Given the description of an element on the screen output the (x, y) to click on. 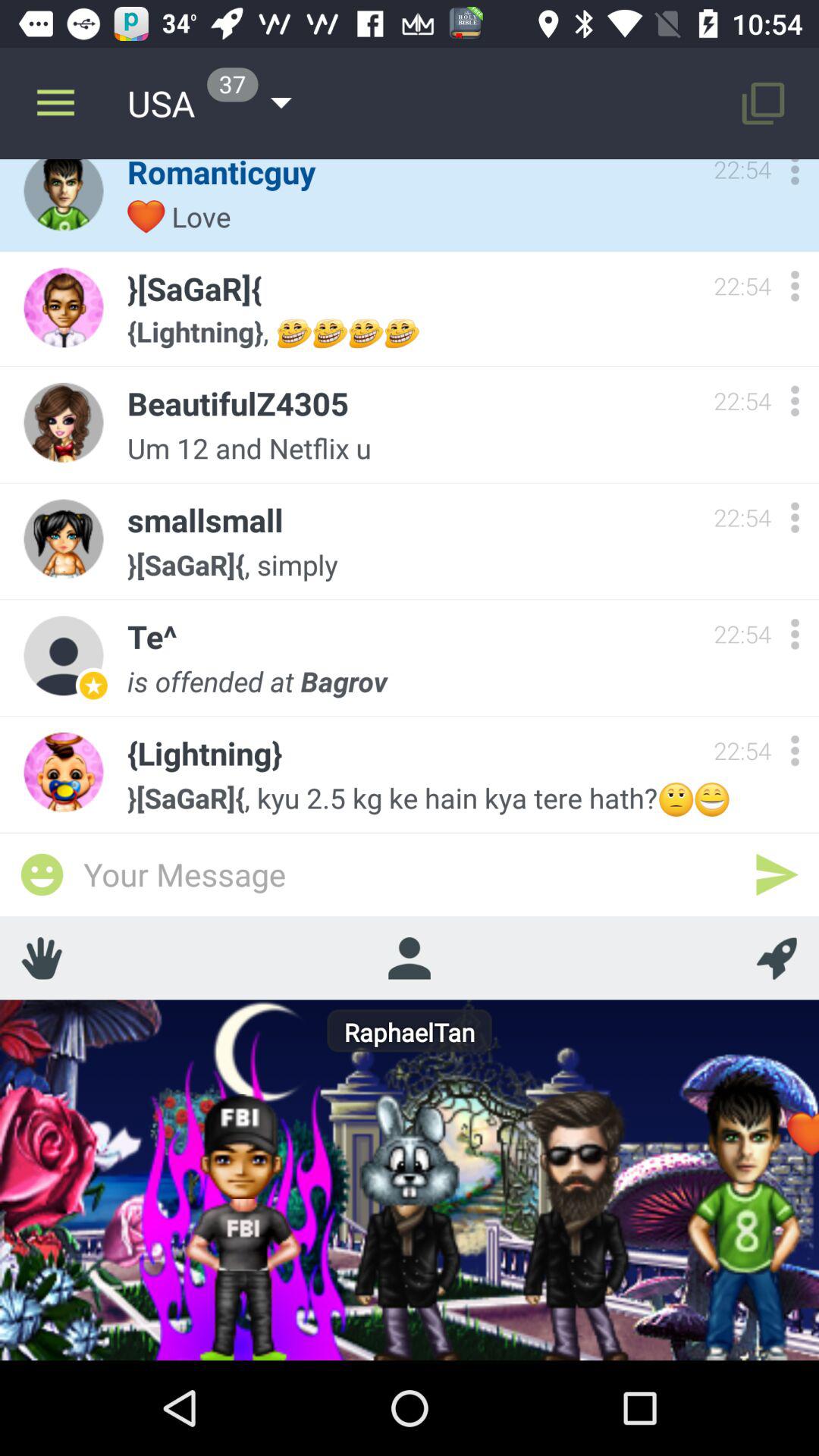
press item to the left of the romanticguy icon (55, 103)
